Given the description of an element on the screen output the (x, y) to click on. 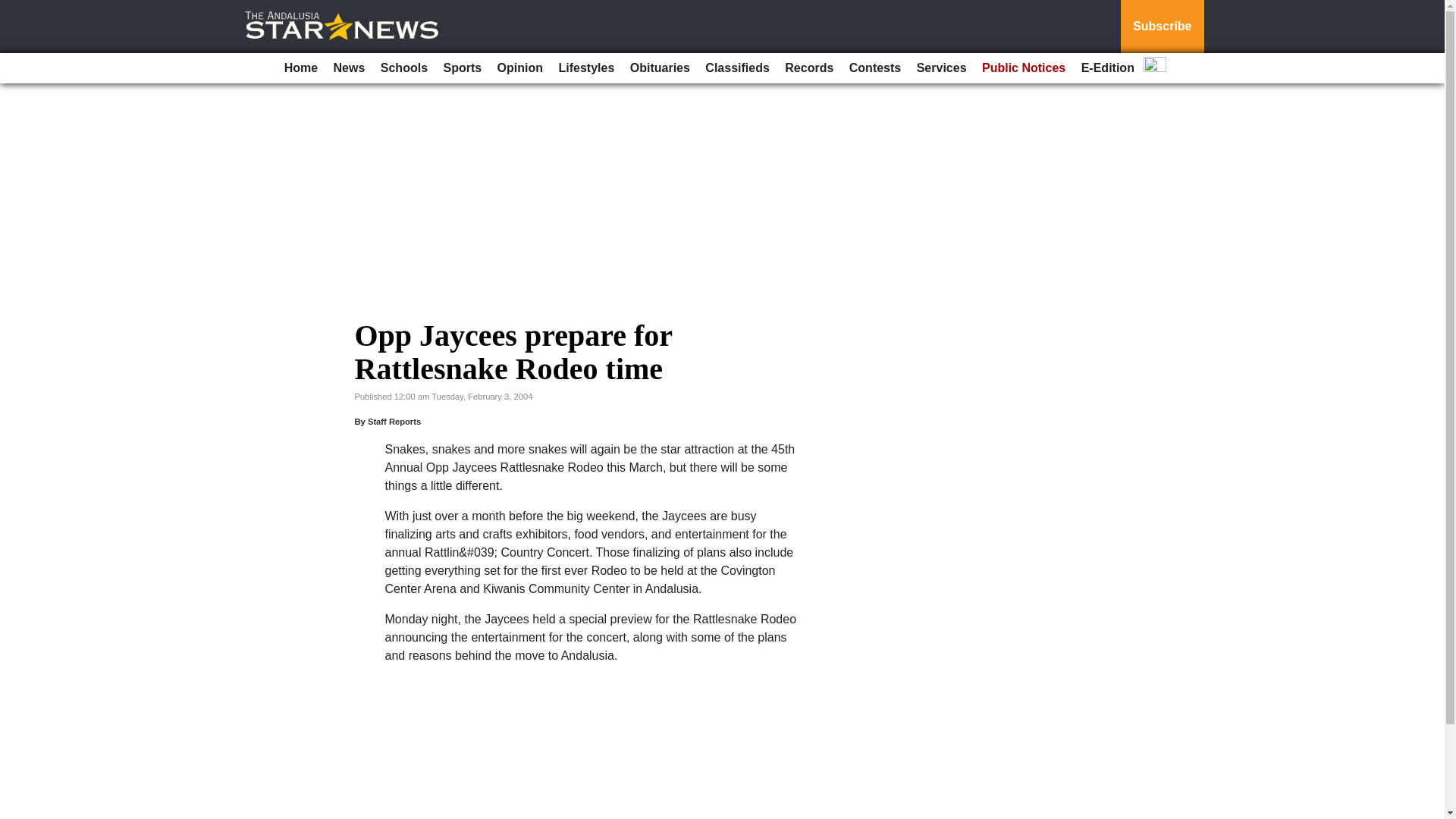
Schools (403, 68)
News (349, 68)
Contests (875, 68)
Sports (461, 68)
Services (941, 68)
Records (809, 68)
Subscribe (1162, 26)
E-Edition (1107, 68)
Go (13, 9)
Obituaries (659, 68)
